Given the description of an element on the screen output the (x, y) to click on. 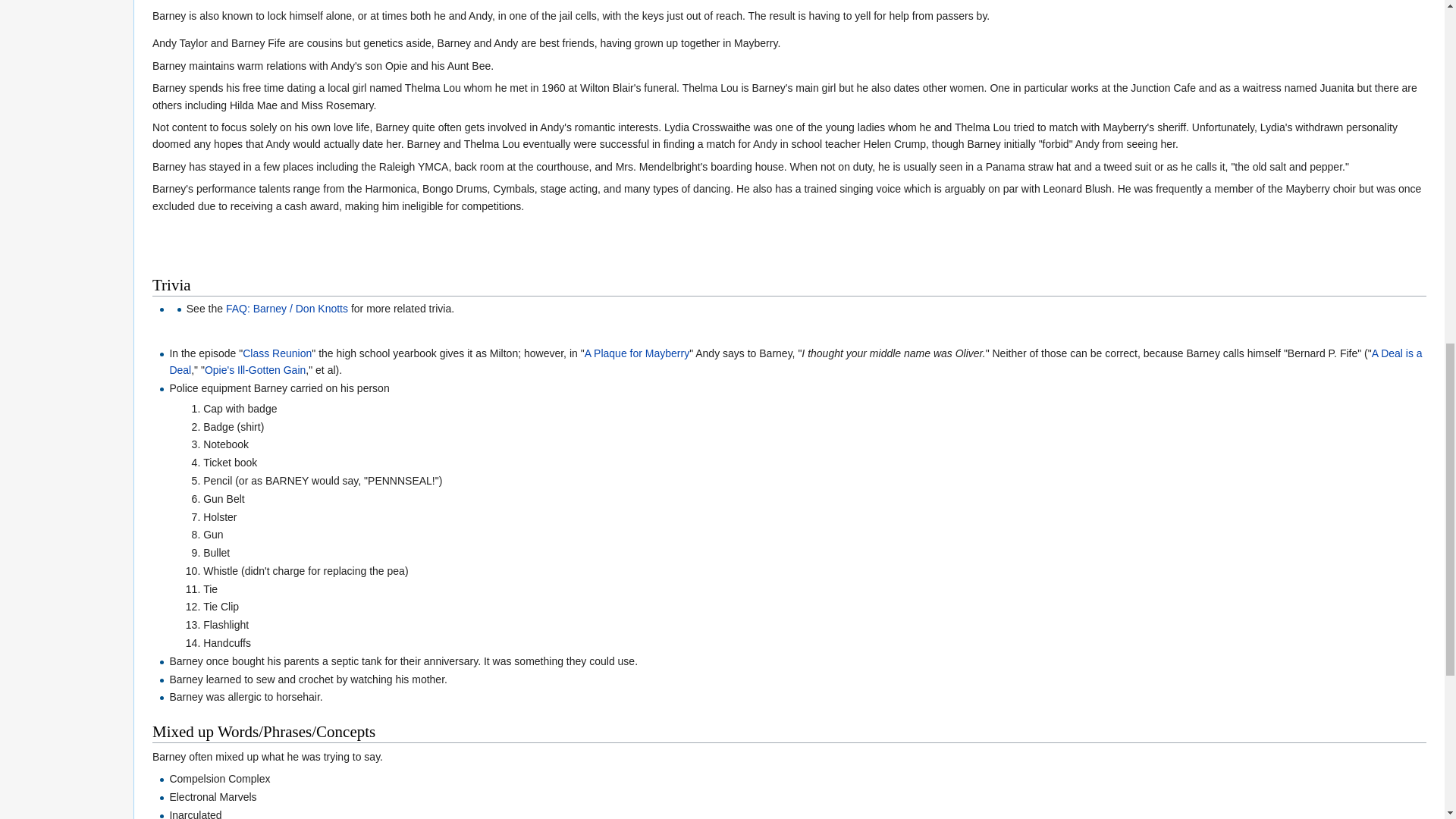
Class Reunion (277, 353)
Opie's Ill-Gotten Gain (255, 369)
A Deal is a Deal (795, 361)
A Plaque for Mayberry (637, 353)
